Given the description of an element on the screen output the (x, y) to click on. 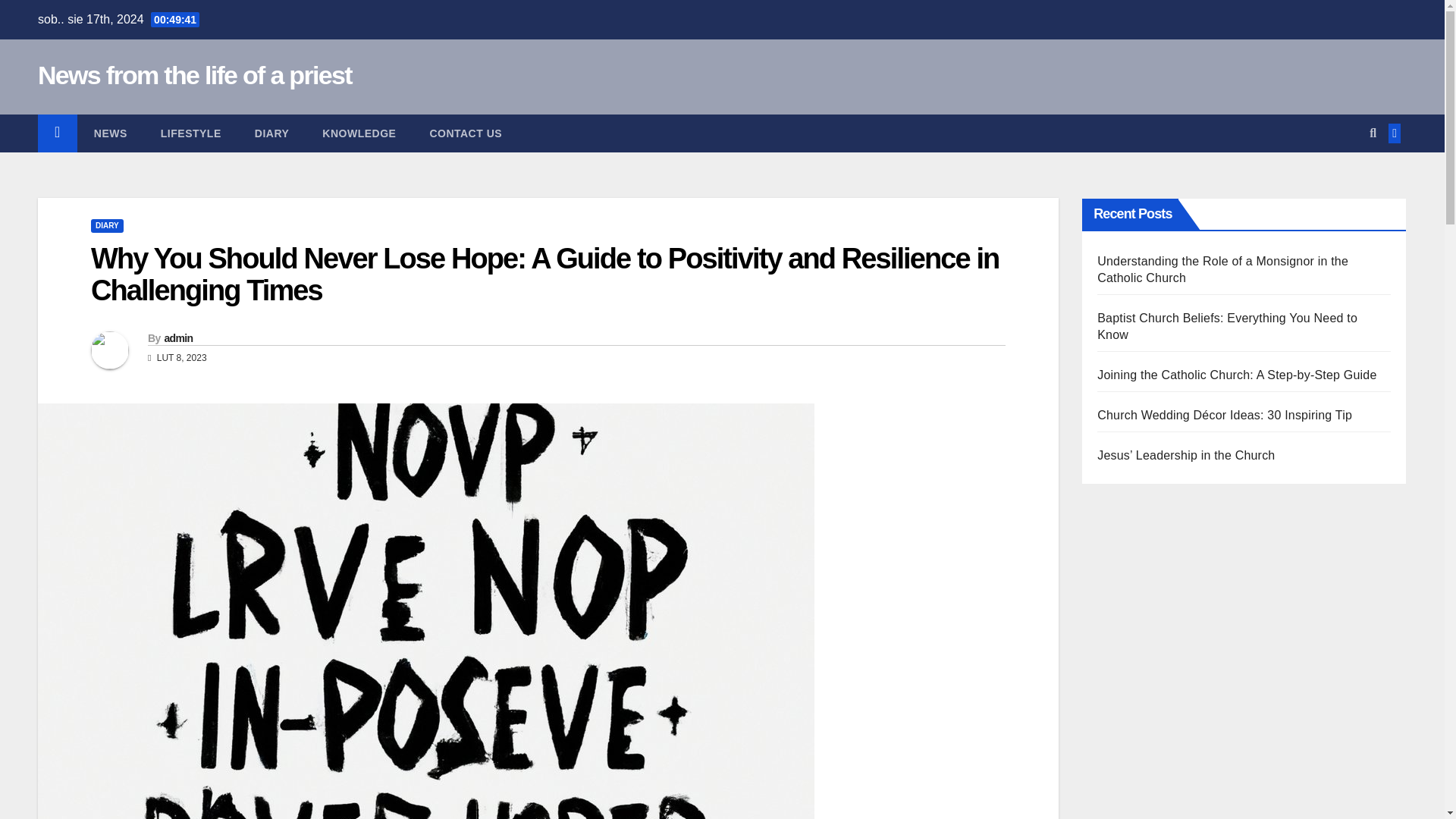
DIARY (271, 133)
admin (177, 337)
CONTACT US (465, 133)
DIARY (106, 225)
Diary (271, 133)
LIFESTYLE (191, 133)
Knowledge (358, 133)
News (110, 133)
Lifestyle (191, 133)
